Given the description of an element on the screen output the (x, y) to click on. 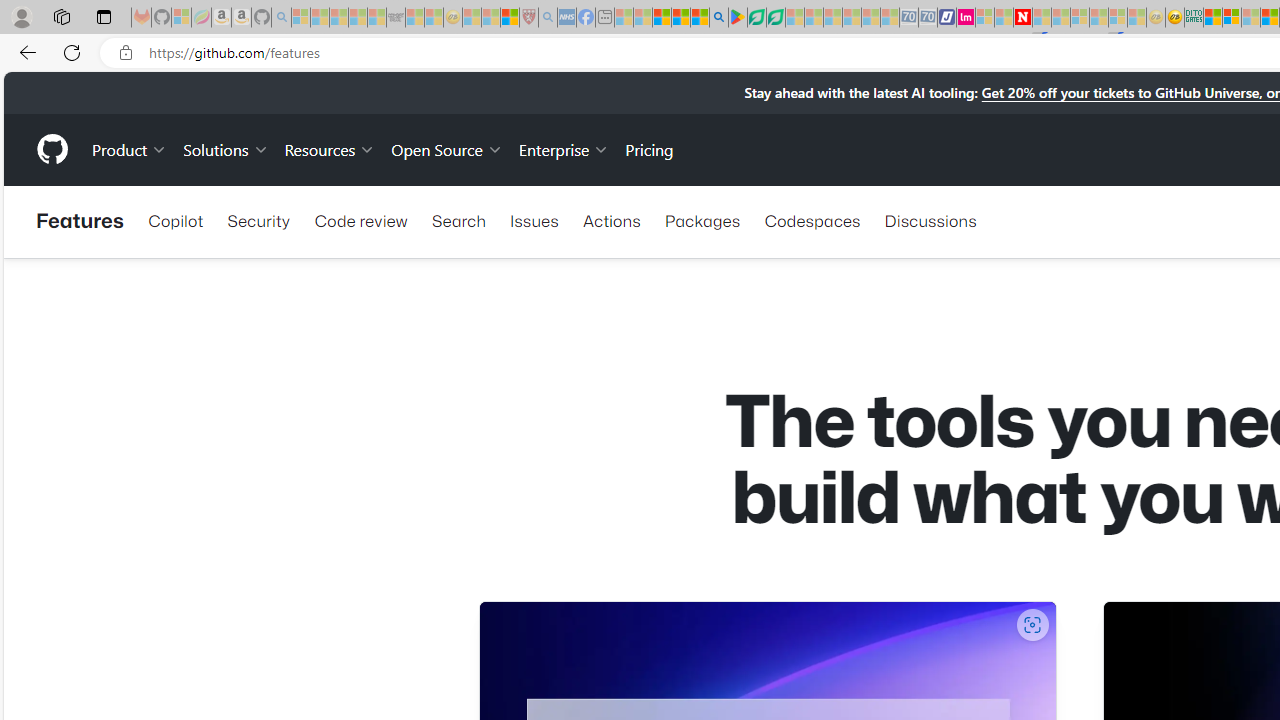
Enterprise (563, 148)
Pricing (649, 148)
Product (130, 148)
Latest Politics News & Archive | Newsweek.com (1022, 17)
Security (258, 220)
Packages (702, 220)
Bluey: Let's Play! - Apps on Google Play (737, 17)
